Given the description of an element on the screen output the (x, y) to click on. 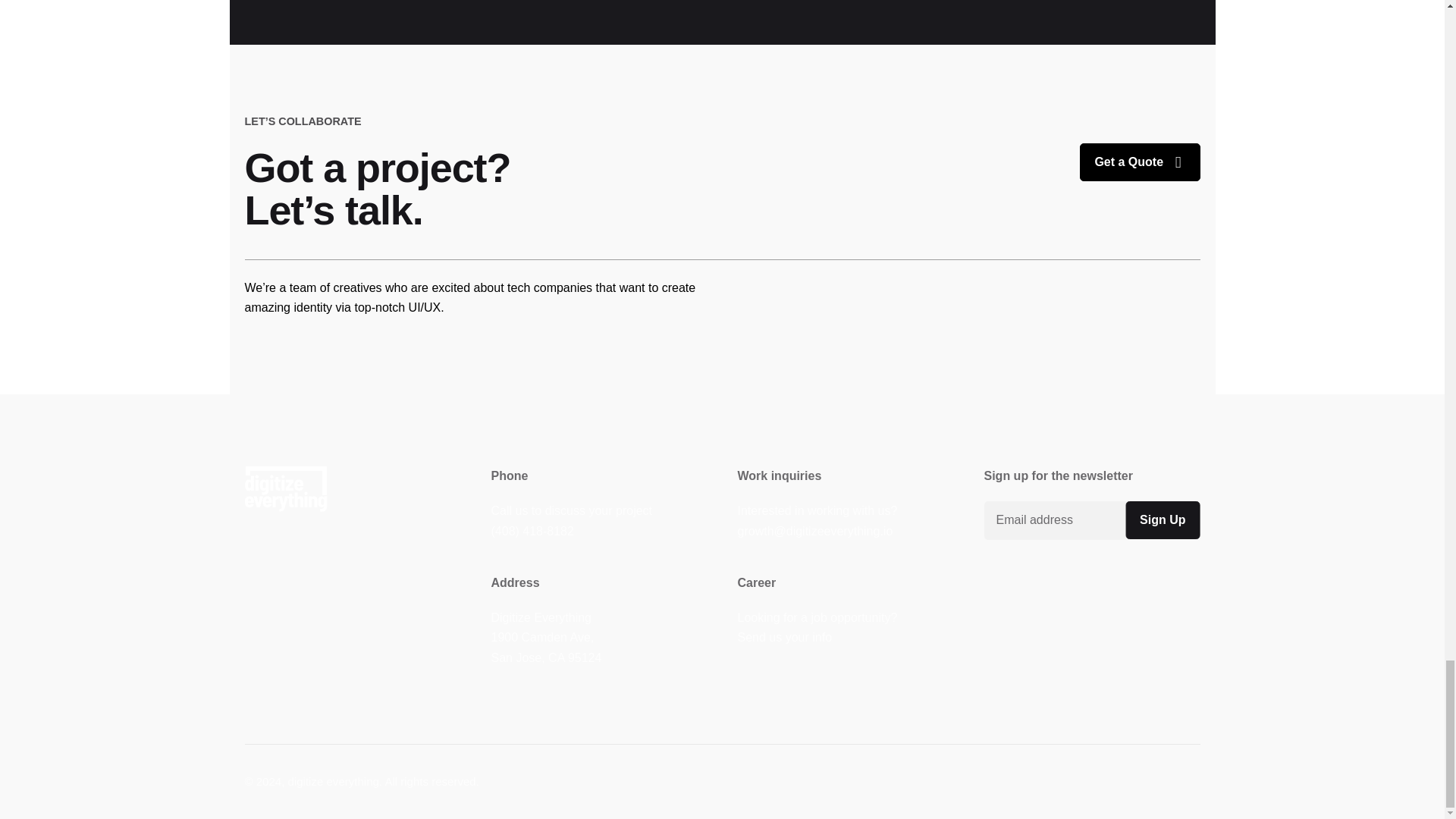
Sign Up (1162, 519)
Sign Up (1162, 519)
Send us your info (783, 636)
Get a Quote (1139, 161)
